Given the description of an element on the screen output the (x, y) to click on. 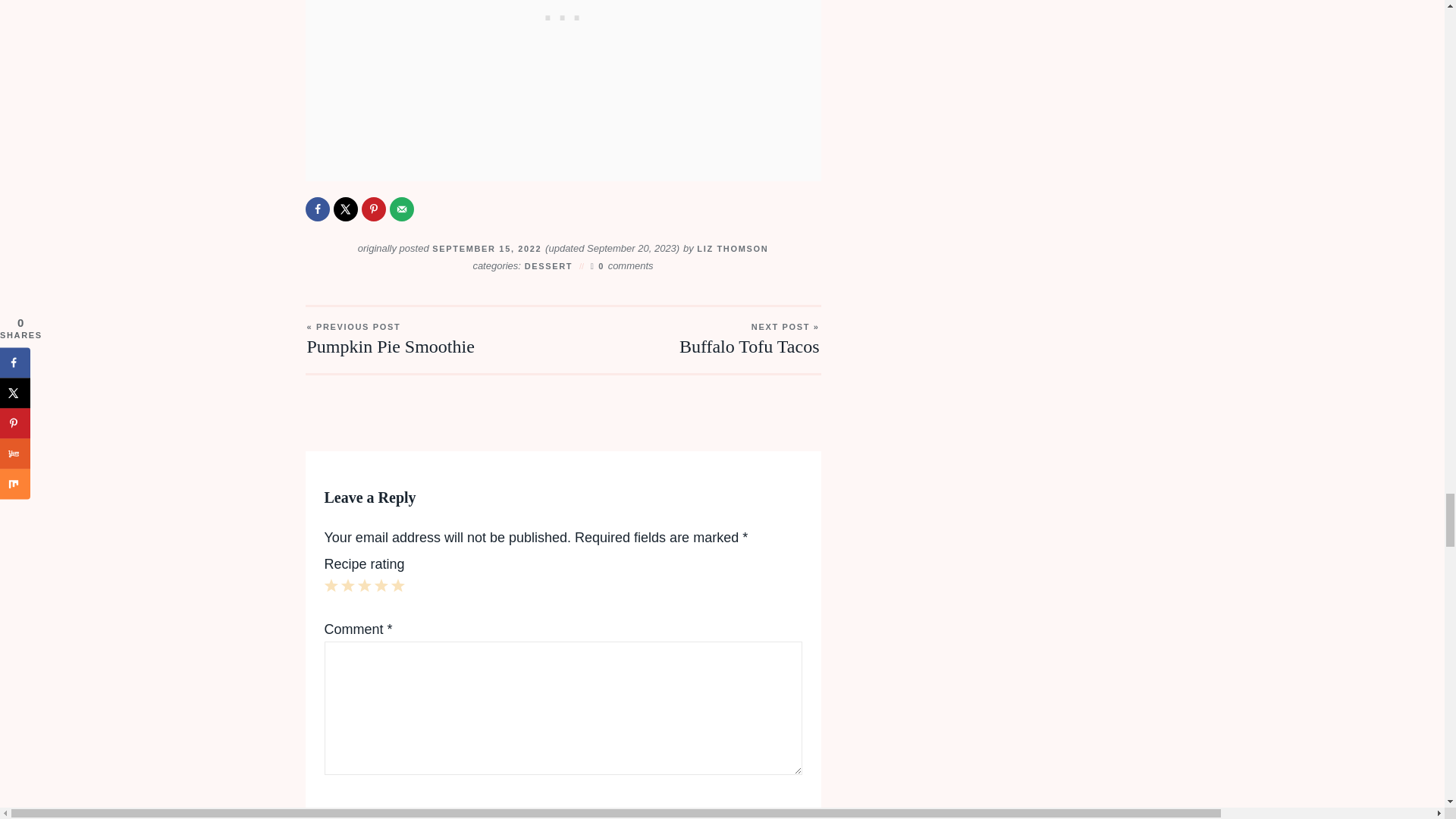
Save to Pinterest (373, 209)
Share on X (345, 209)
Share on Facebook (316, 209)
Send over email (401, 209)
